Given the description of an element on the screen output the (x, y) to click on. 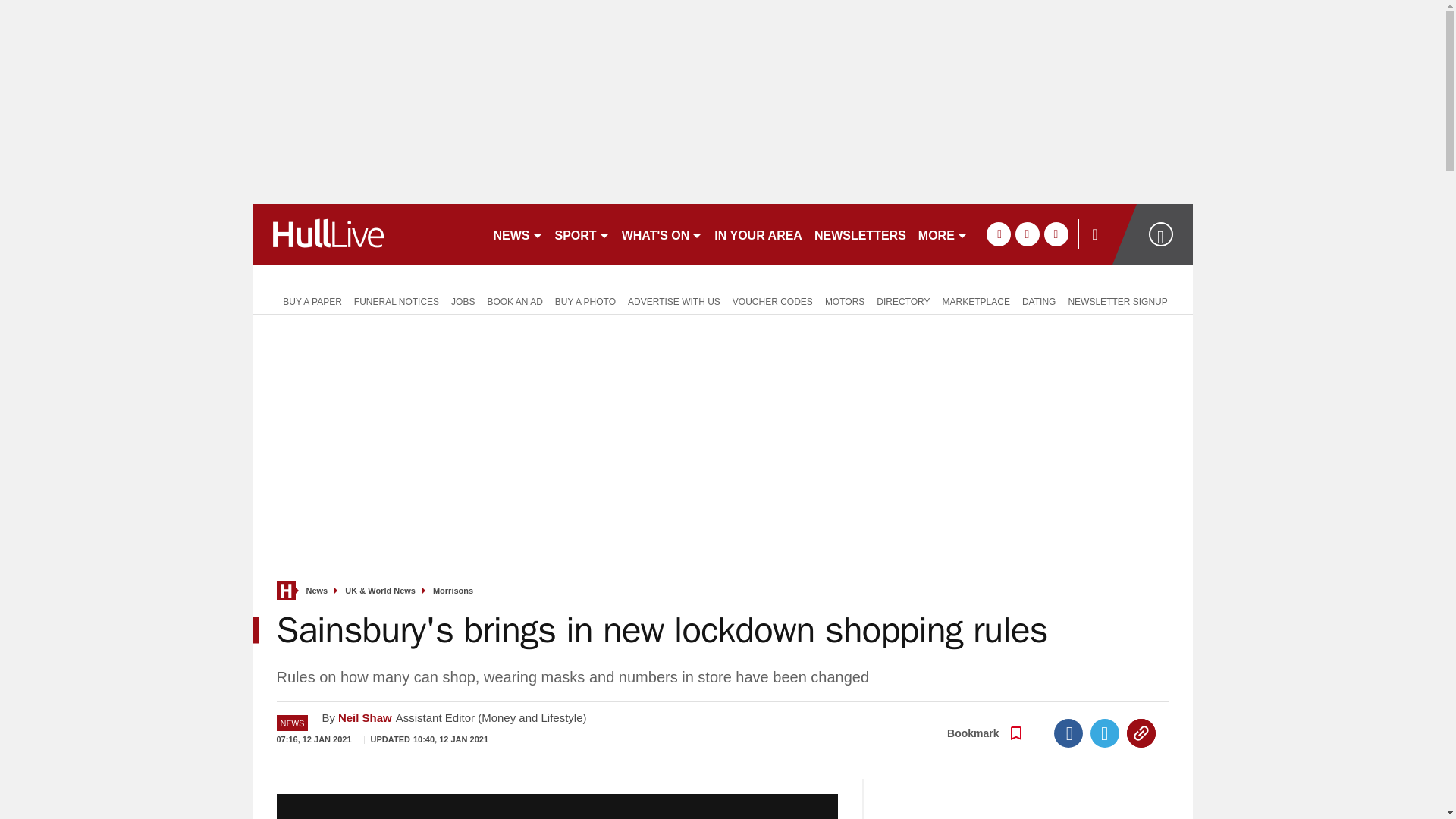
NEWS (517, 233)
NEWSLETTERS (860, 233)
hulldailymail (365, 233)
WHAT'S ON (662, 233)
MORE (943, 233)
IN YOUR AREA (757, 233)
instagram (1055, 233)
Twitter (1104, 733)
twitter (1026, 233)
SPORT (581, 233)
